Given the description of an element on the screen output the (x, y) to click on. 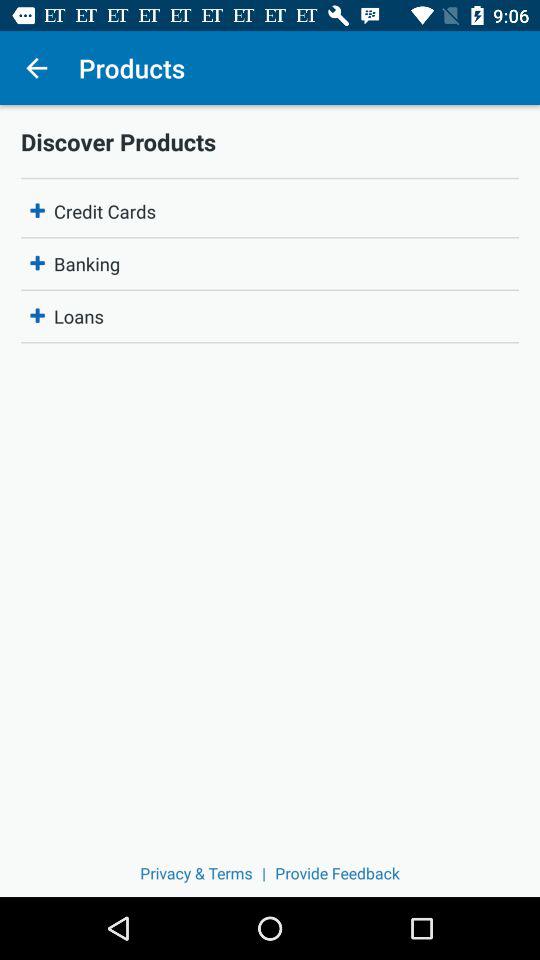
launch the item next to | icon (196, 872)
